Given the description of an element on the screen output the (x, y) to click on. 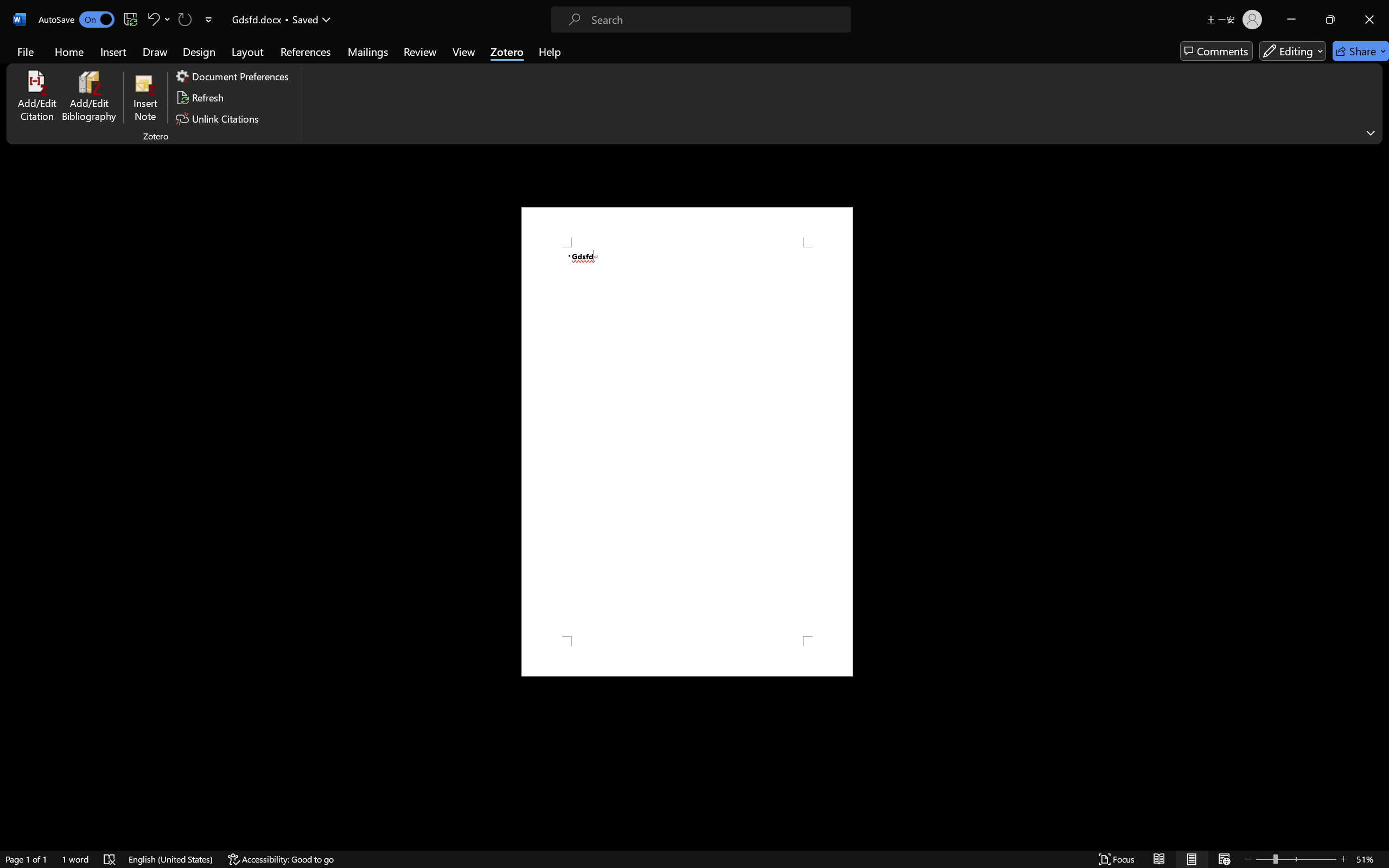
An abstract genetic concept (796, 412)
